Given the description of an element on the screen output the (x, y) to click on. 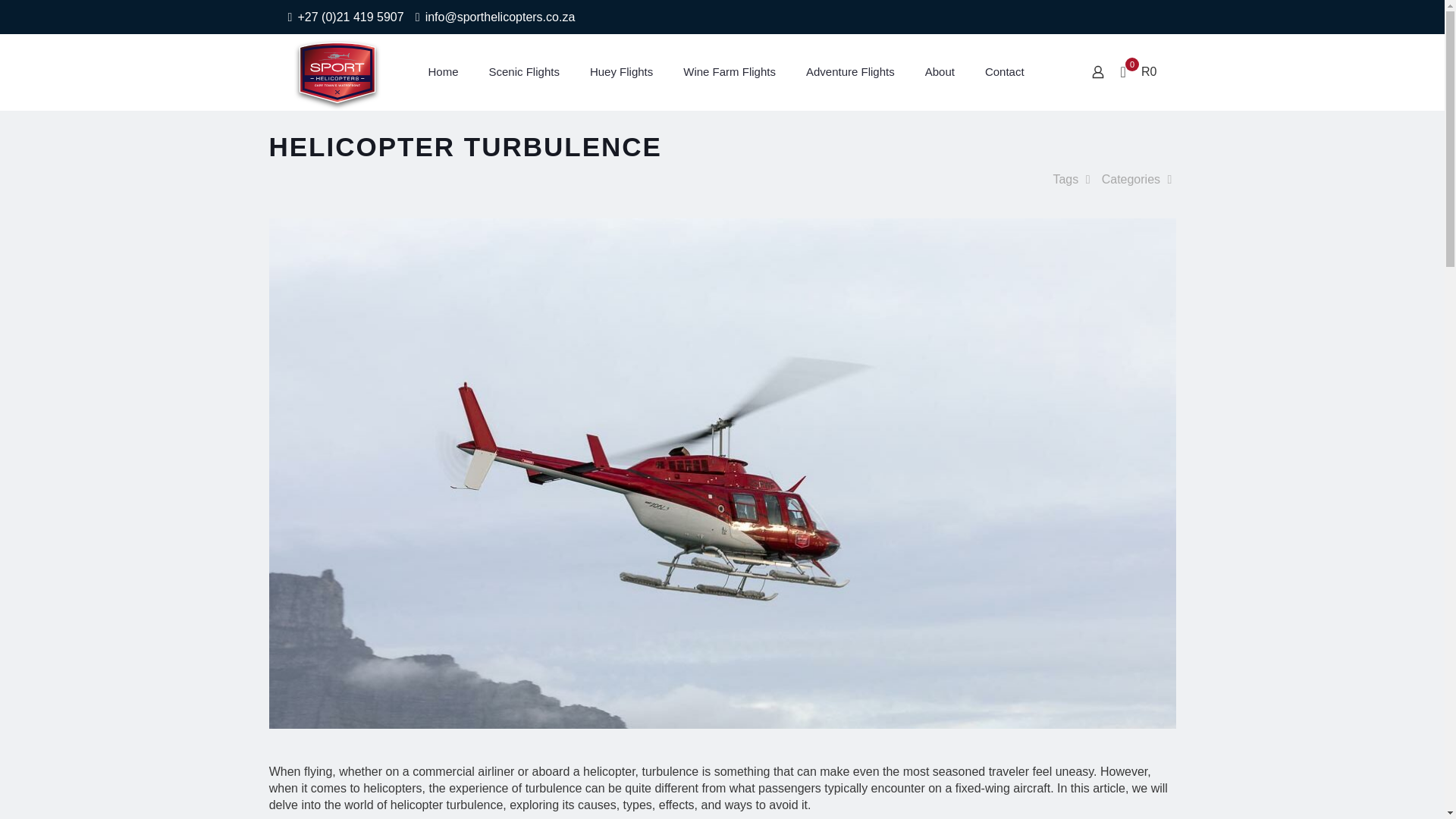
Wine Farm Flights (729, 71)
Adventure Flights (850, 71)
Scenic Flights (524, 71)
Sport Helicopters Cape Town (336, 71)
Contact (1004, 71)
Huey Flights (621, 71)
